Given the description of an element on the screen output the (x, y) to click on. 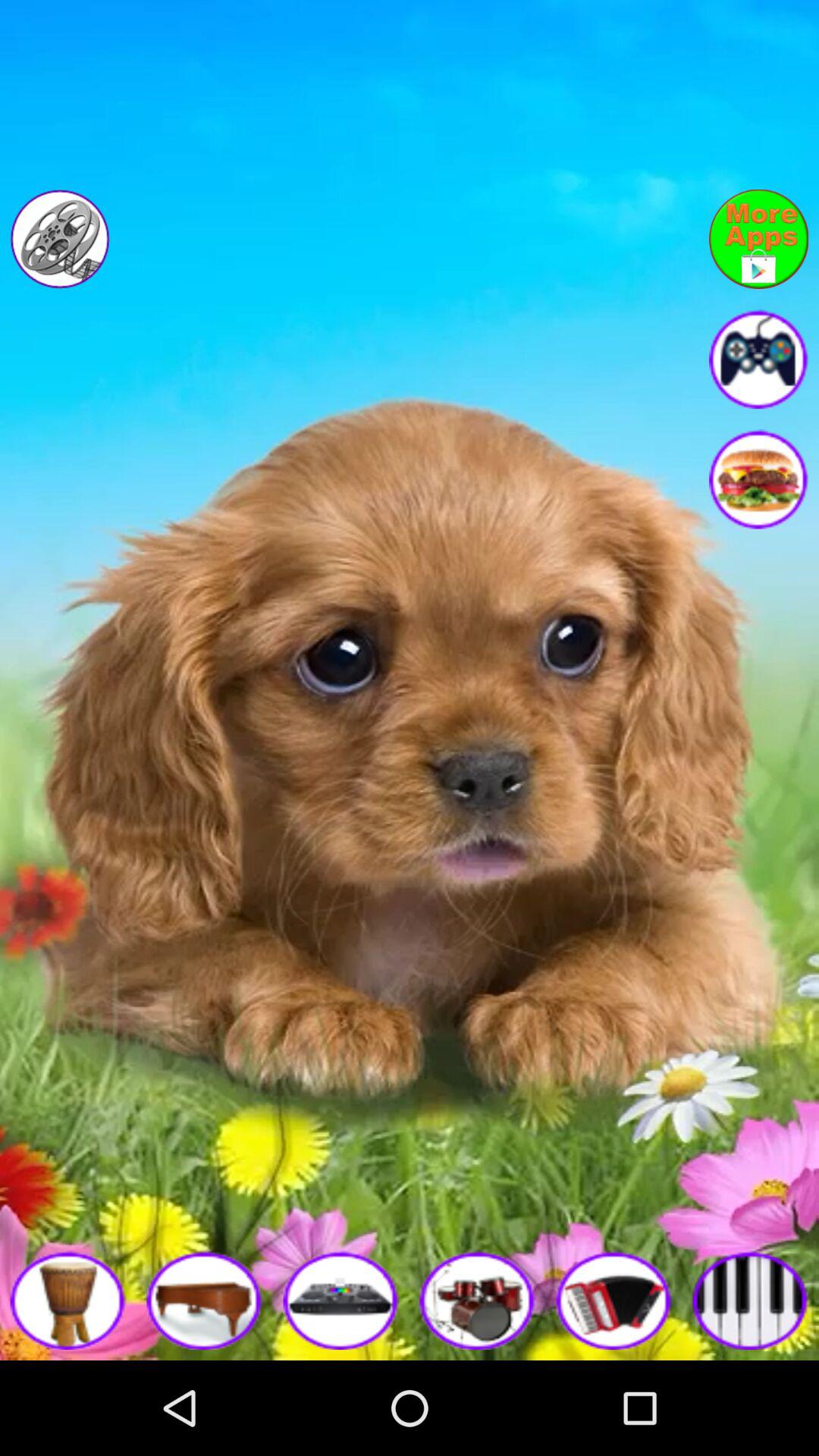
play a game (68, 1300)
